Given the description of an element on the screen output the (x, y) to click on. 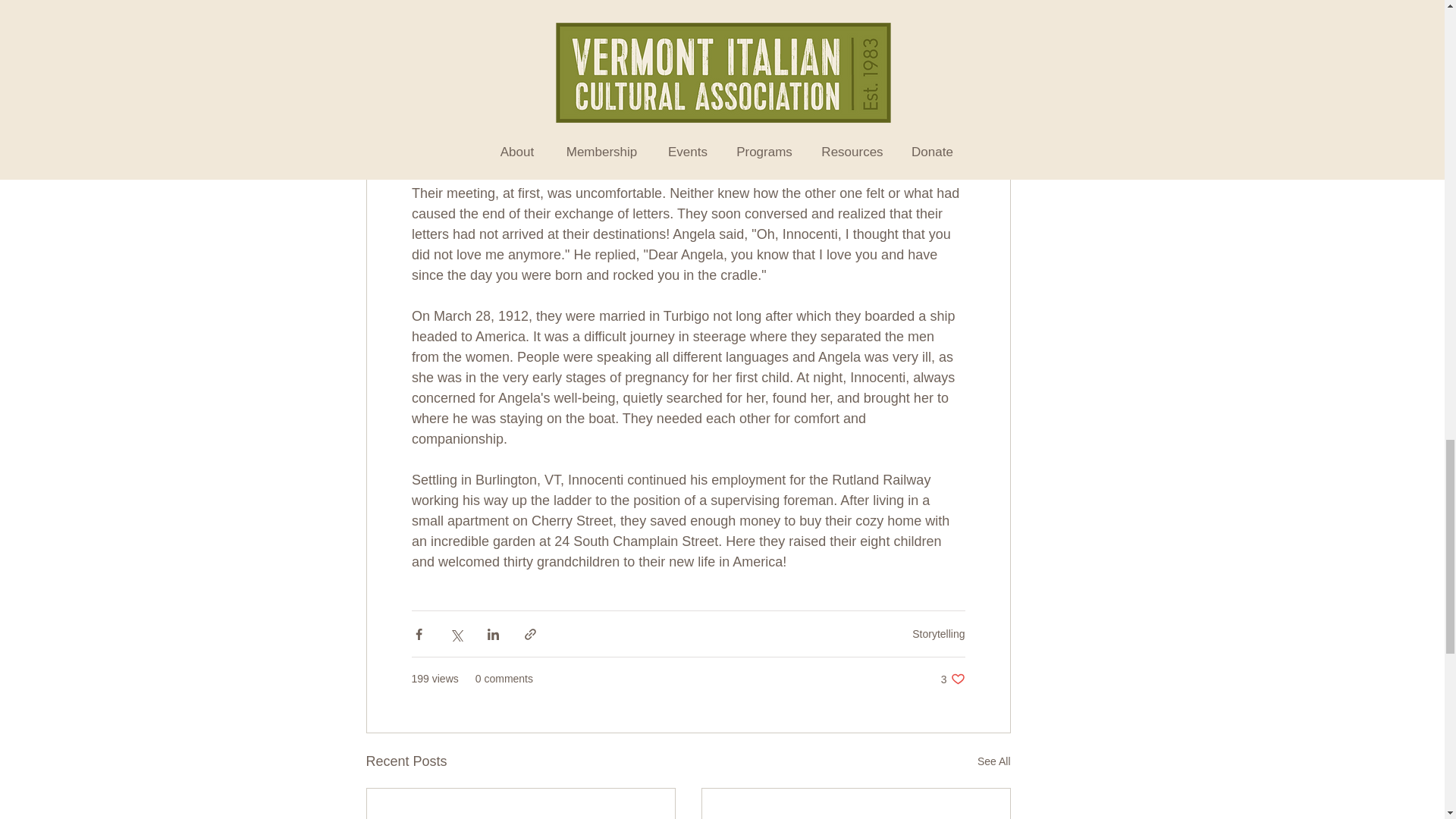
See All (993, 762)
Storytelling (937, 633)
